Given the description of an element on the screen output the (x, y) to click on. 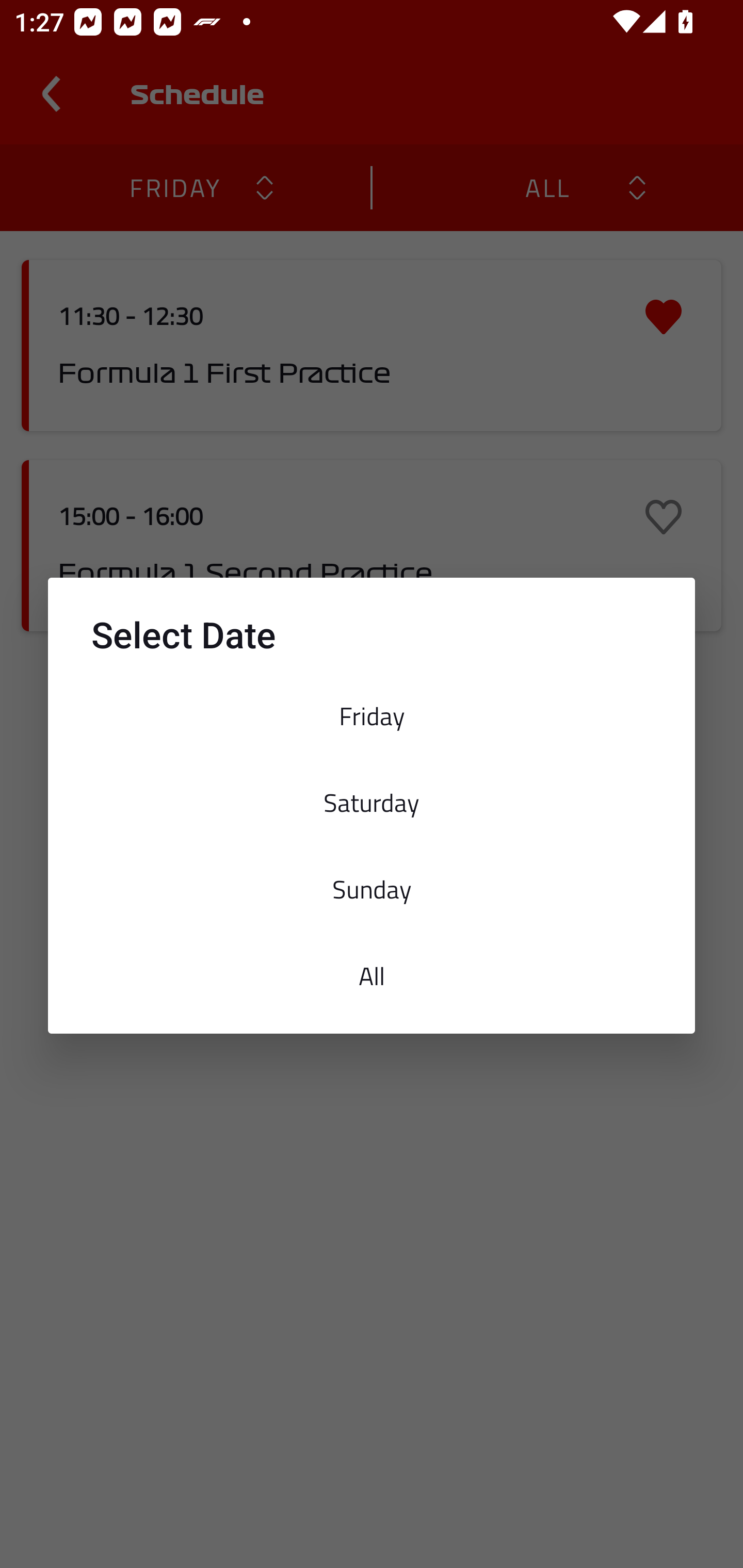
Friday (371, 715)
Saturday (371, 801)
Sunday (371, 888)
All (371, 975)
